Given the description of an element on the screen output the (x, y) to click on. 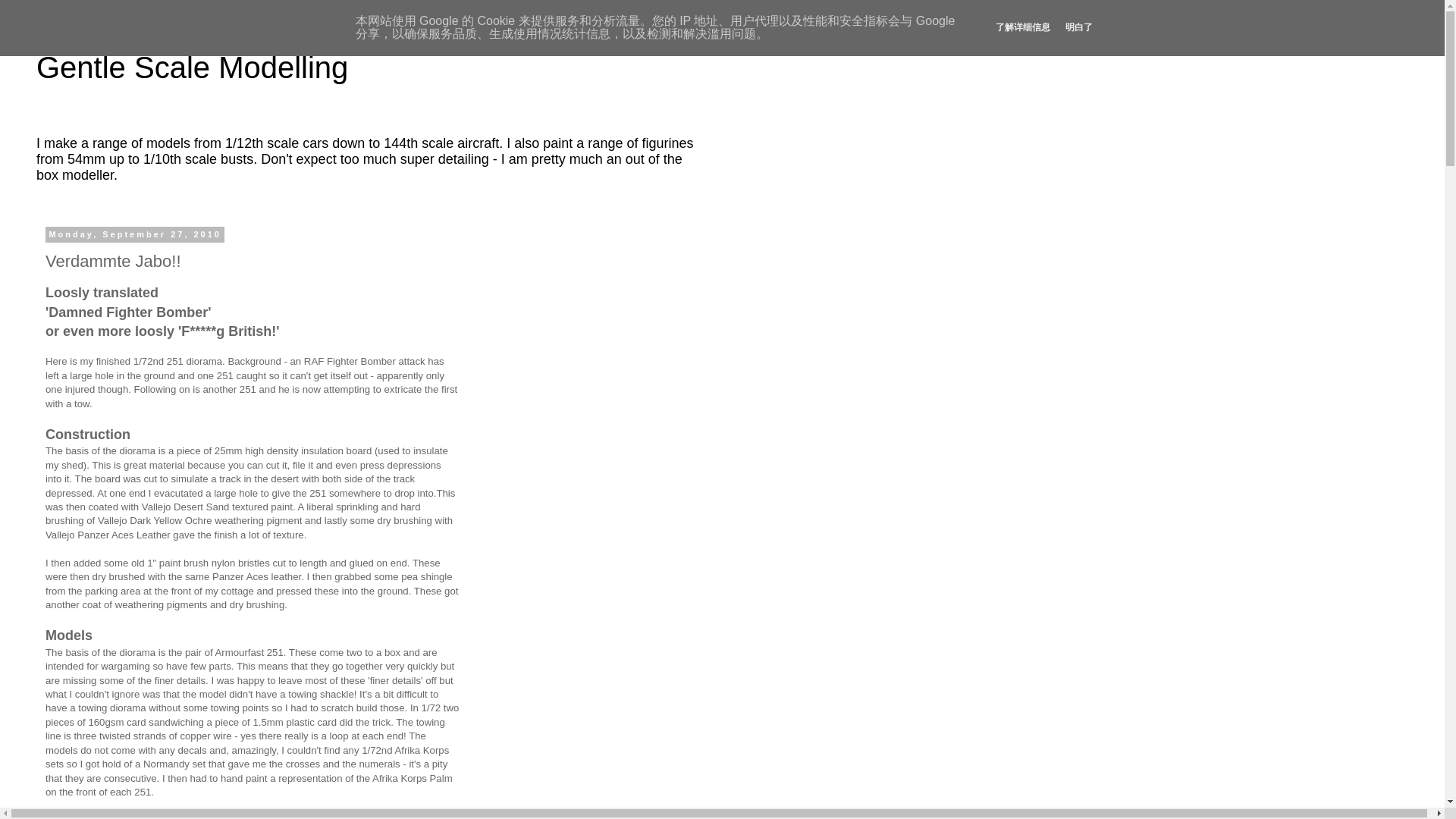
Gentle Scale Modelling (191, 67)
